Given the description of an element on the screen output the (x, y) to click on. 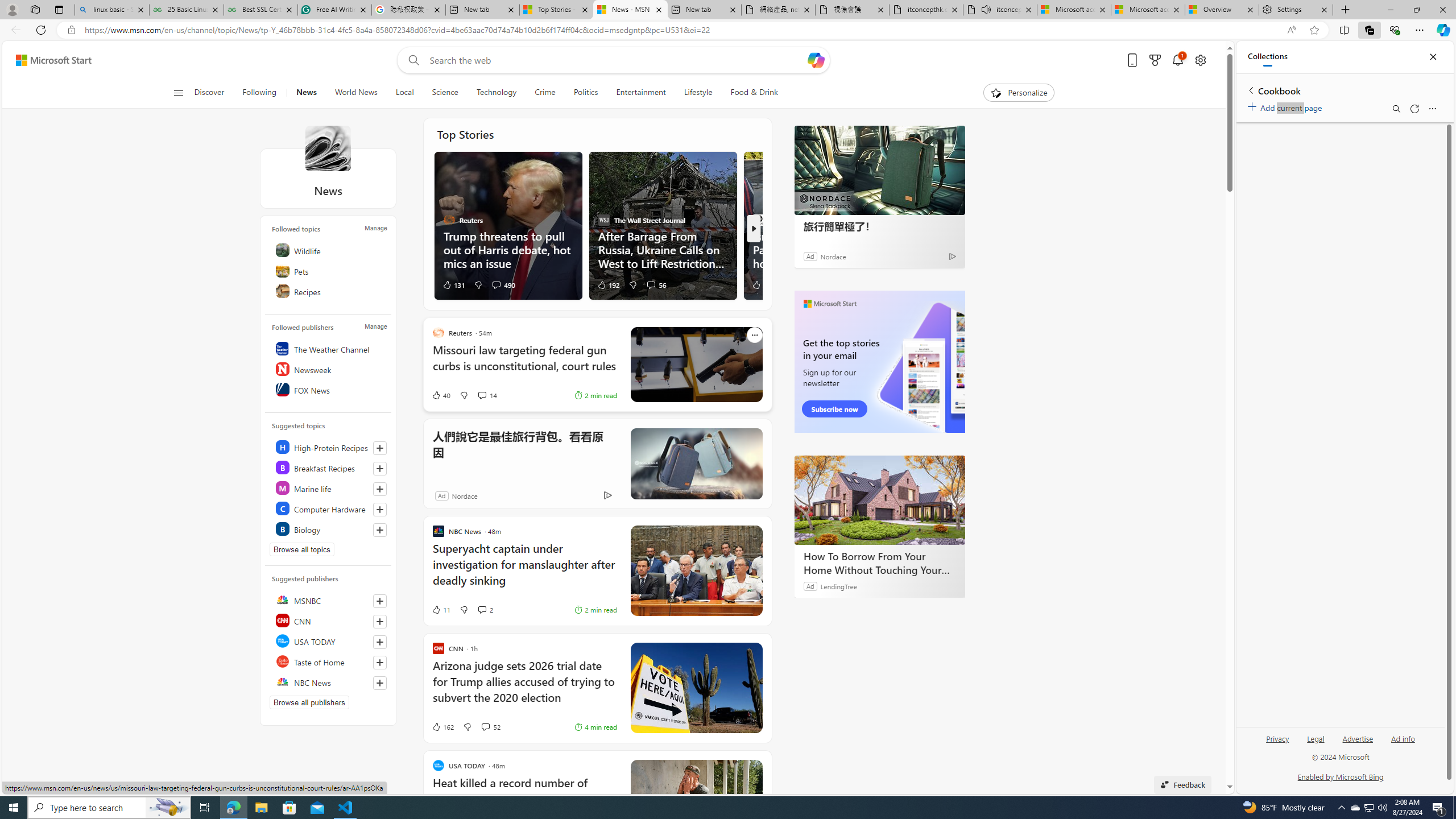
View comments 490 Comment (502, 284)
